Given the description of an element on the screen output the (x, y) to click on. 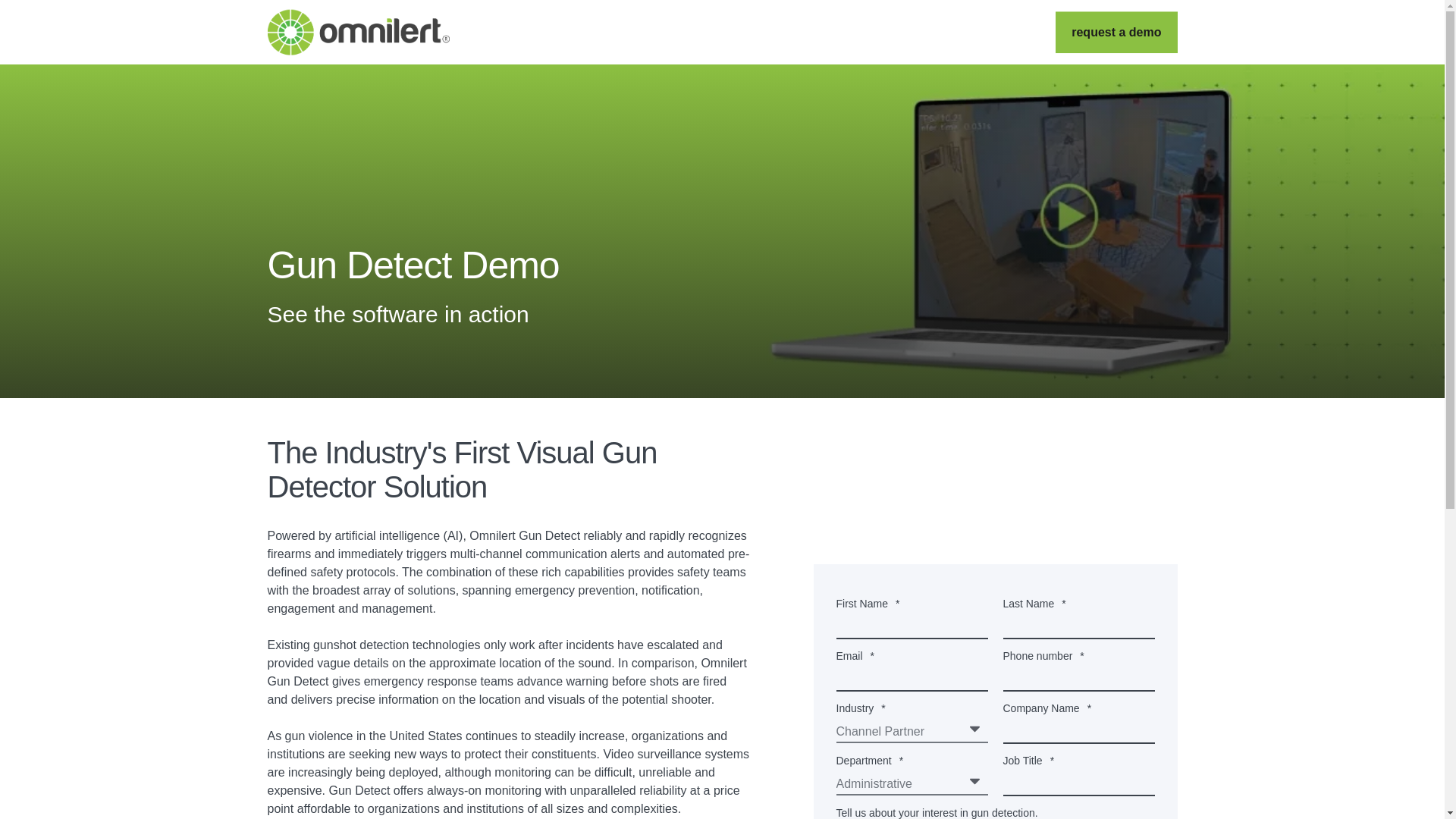
logo (357, 32)
request a demo (1115, 32)
Button request a demo (1115, 32)
